Given the description of an element on the screen output the (x, y) to click on. 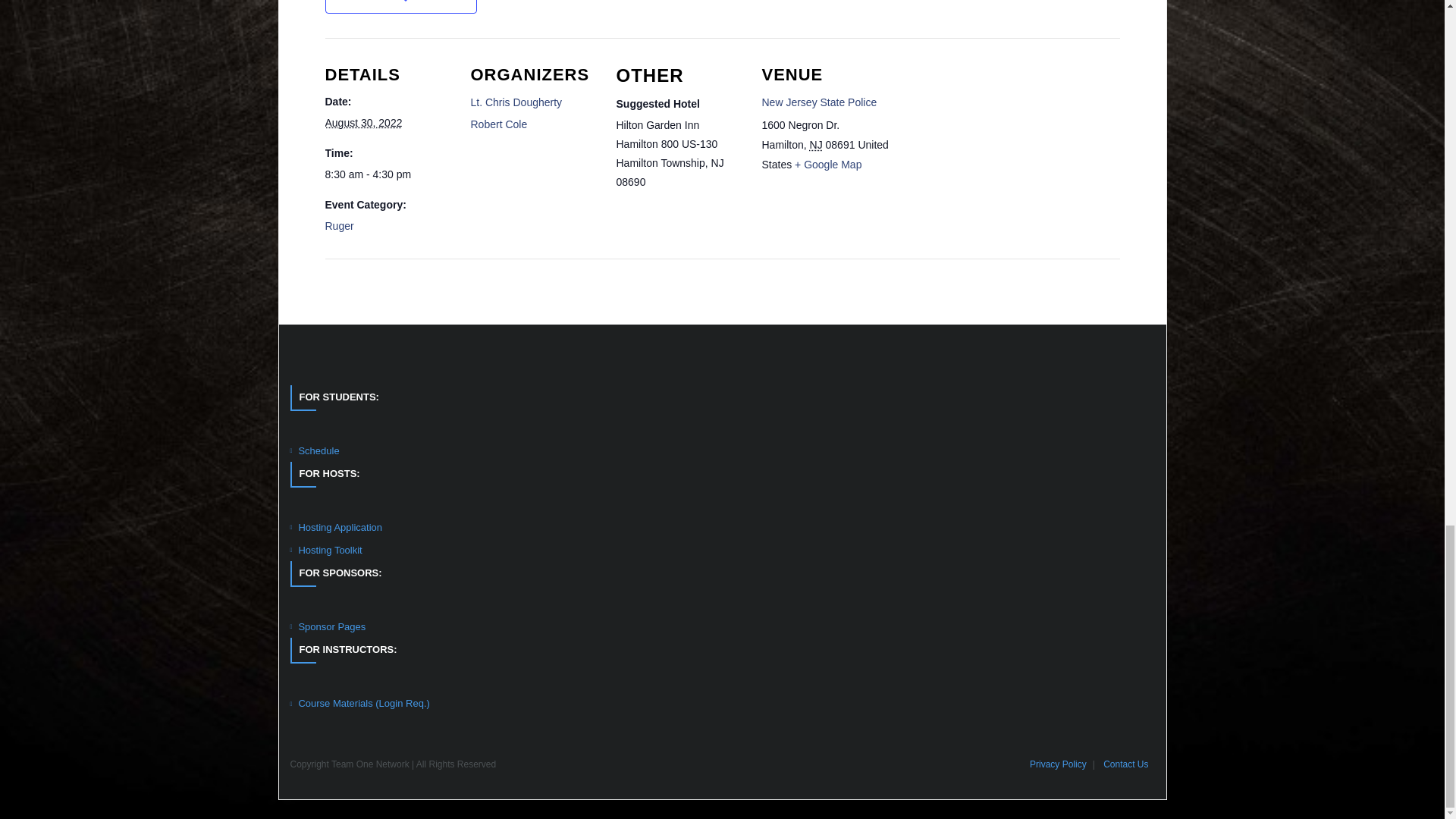
2022-08-30 (387, 174)
Robert Cole (498, 123)
2022-08-30 (362, 122)
New Jersey (815, 144)
Lt. Chris Dougherty (516, 102)
Click to view a Google Map (827, 164)
